Given the description of an element on the screen output the (x, y) to click on. 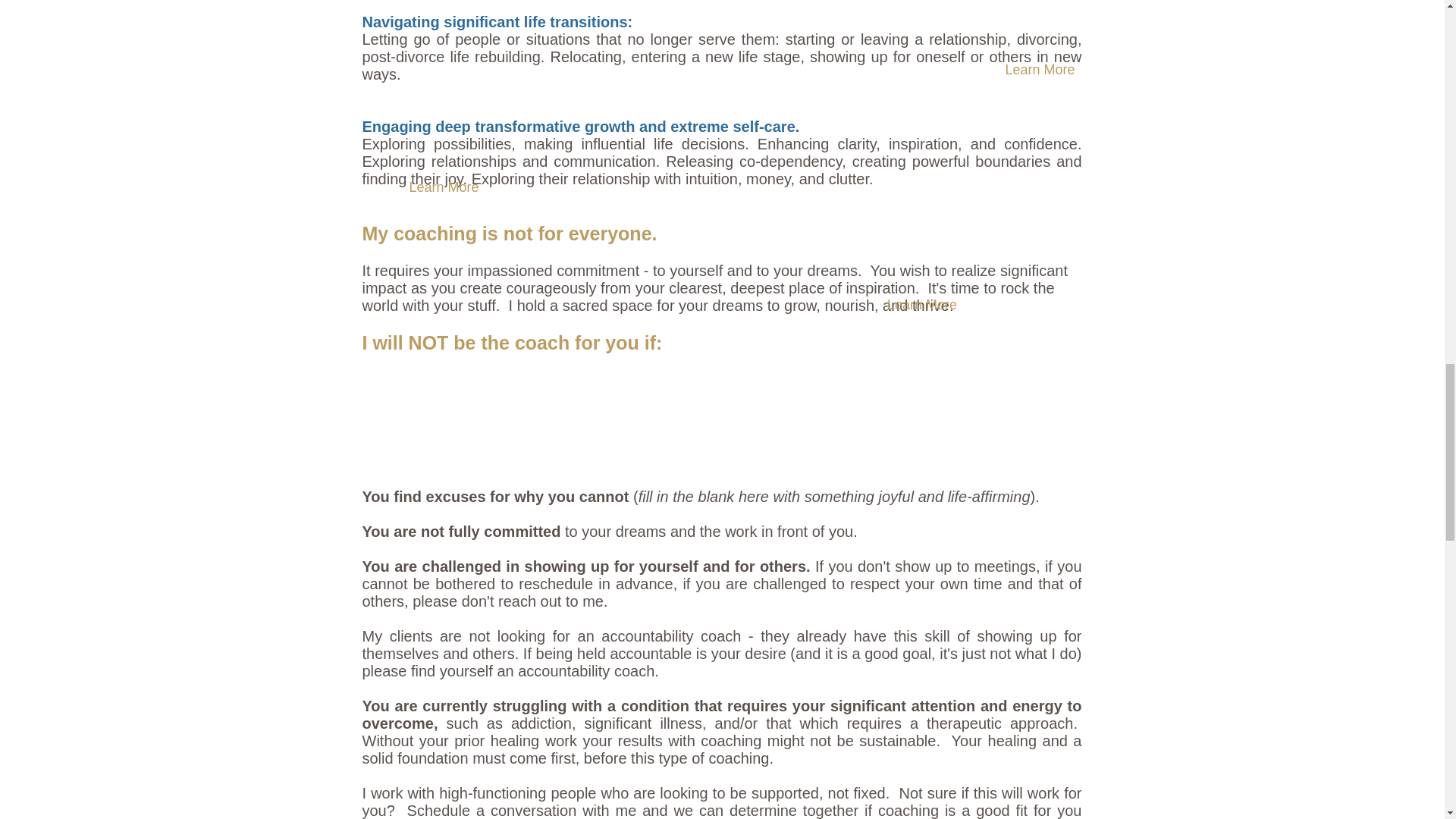
Learn More (443, 186)
Learn More (1039, 69)
Learn More (923, 304)
